Given the description of an element on the screen output the (x, y) to click on. 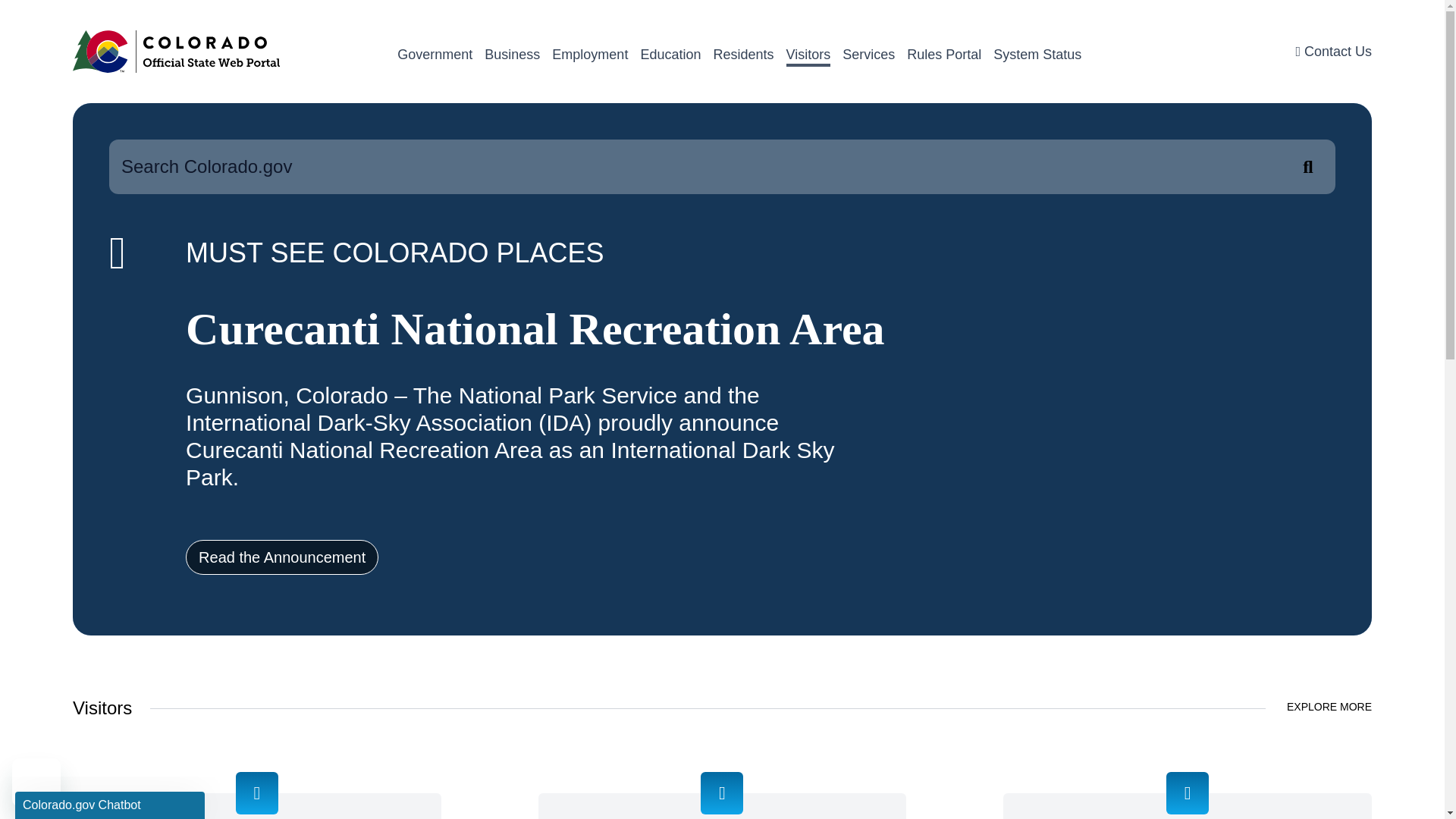
Rules Portal (944, 54)
Business (512, 54)
Education (670, 54)
Residents (743, 54)
Enter the terms you wish to search for. (722, 166)
System Status (1036, 54)
Contact Us (1333, 51)
Visitors (807, 56)
Read the Announcement (281, 557)
Services (869, 54)
Employment (589, 54)
